Given the description of an element on the screen output the (x, y) to click on. 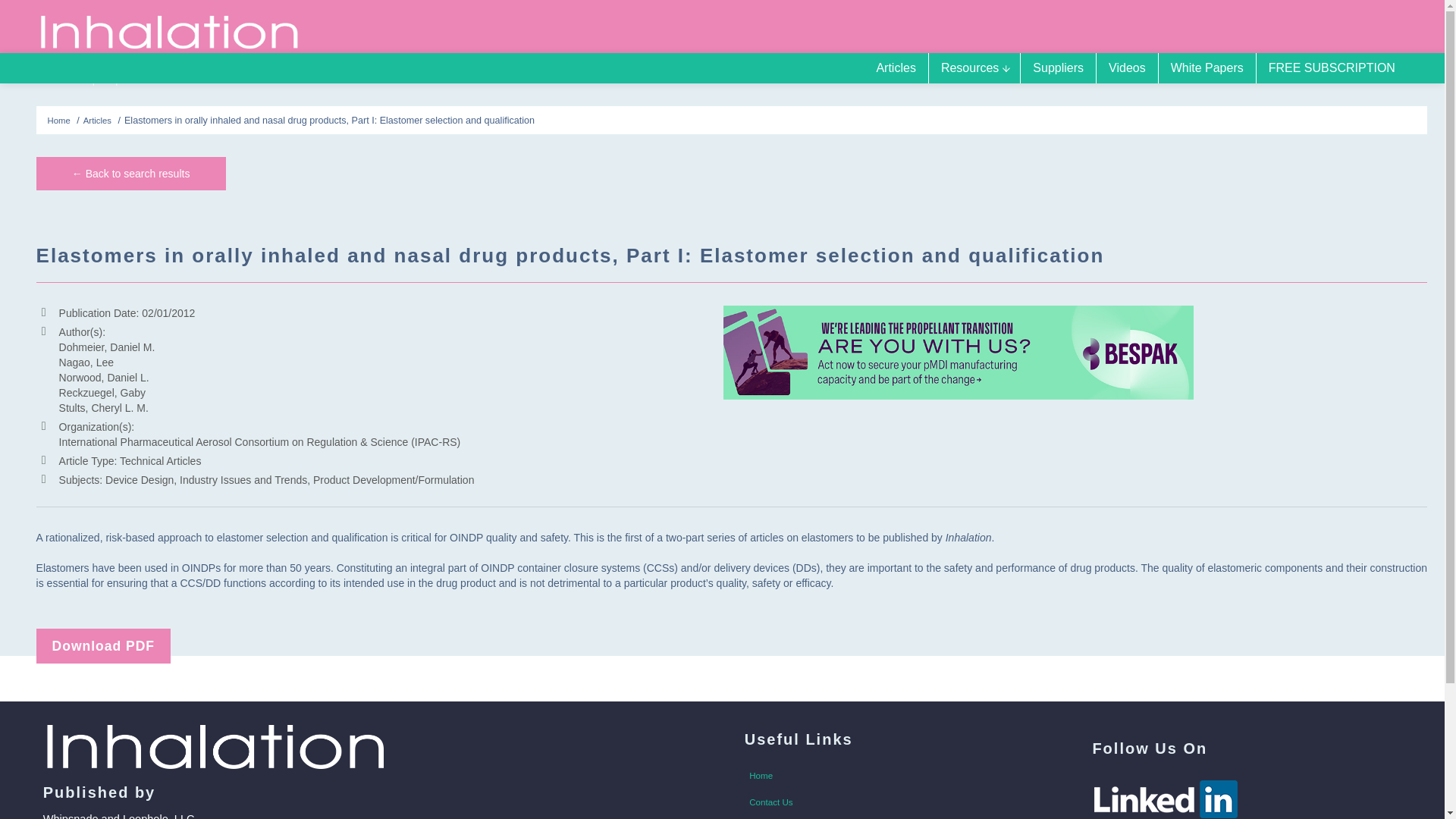
Inhalation Magazine (169, 30)
Contact Us (898, 801)
Resources (974, 68)
Home (58, 120)
Suppliers (1058, 68)
Home (898, 775)
FREE SUBSCRIPTION (1331, 68)
Videos (1127, 68)
Articles (895, 68)
Articles (97, 120)
White Papers (1206, 68)
Download PDF (103, 645)
